Given the description of an element on the screen output the (x, y) to click on. 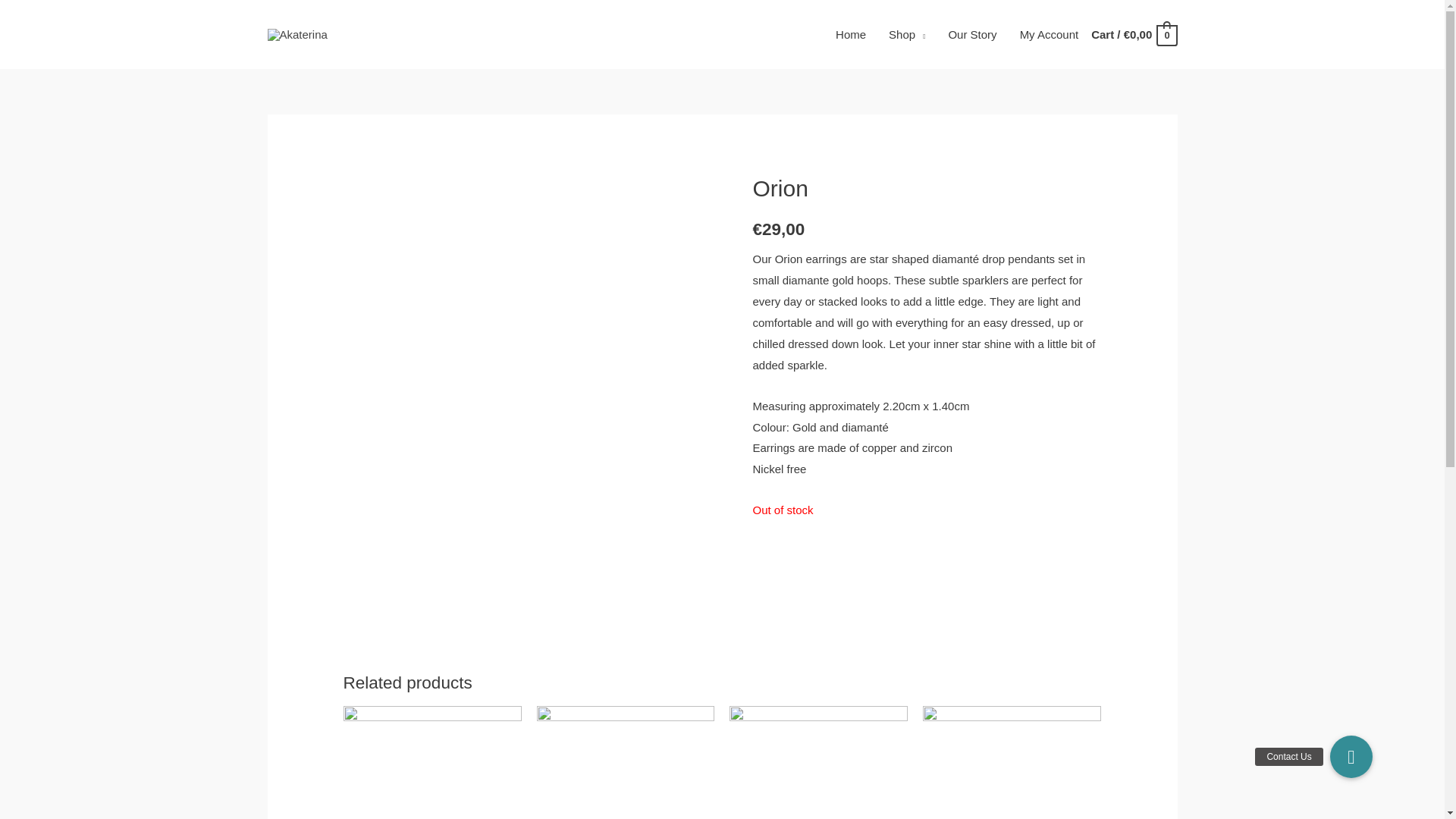
View your shopping cart (1132, 34)
Shop (906, 34)
Home (850, 34)
Our Story (971, 34)
My Account (1049, 34)
